Given the description of an element on the screen output the (x, y) to click on. 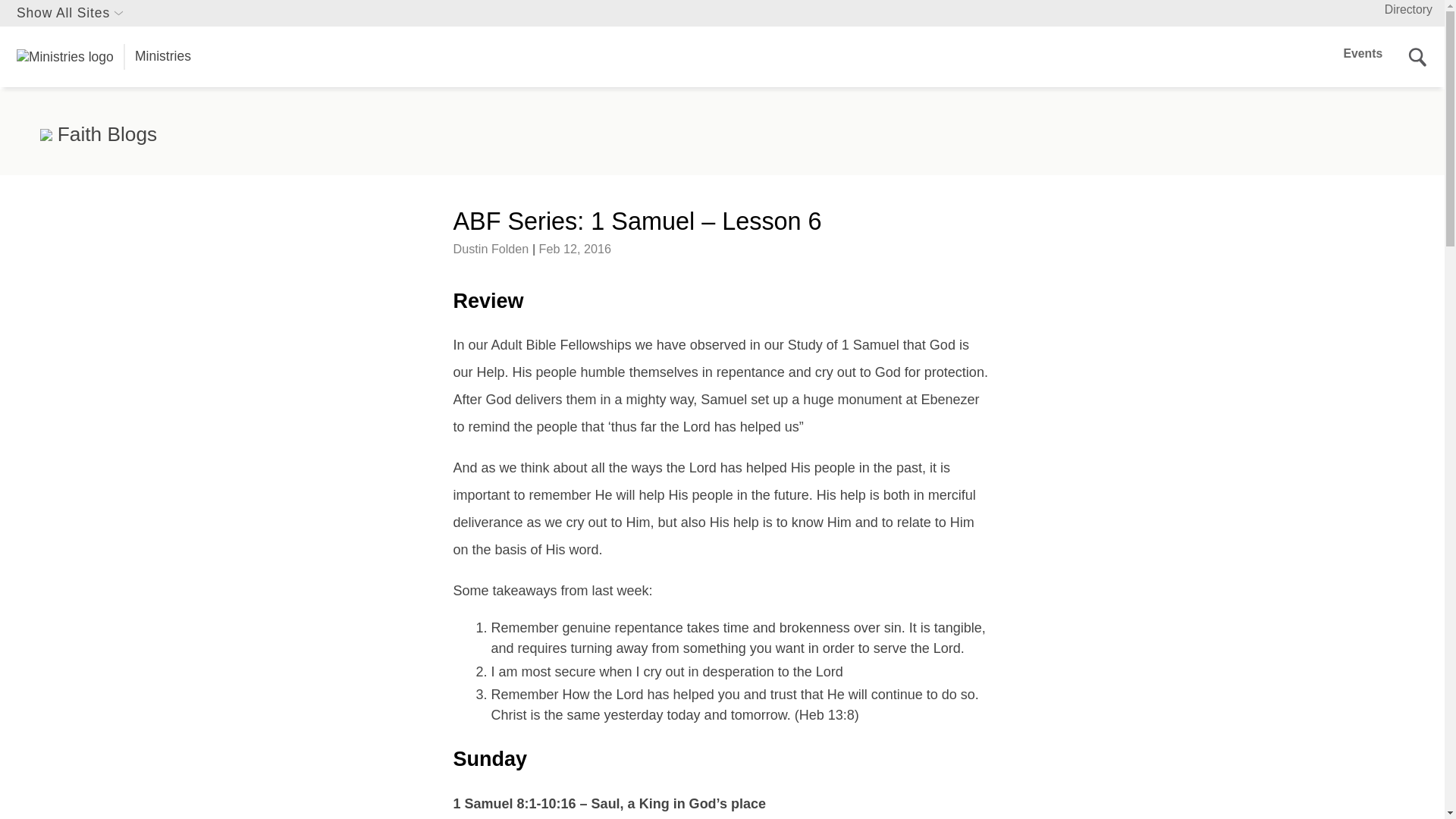
Events (1363, 53)
Directory (1408, 9)
Ministries (103, 57)
